Given the description of an element on the screen output the (x, y) to click on. 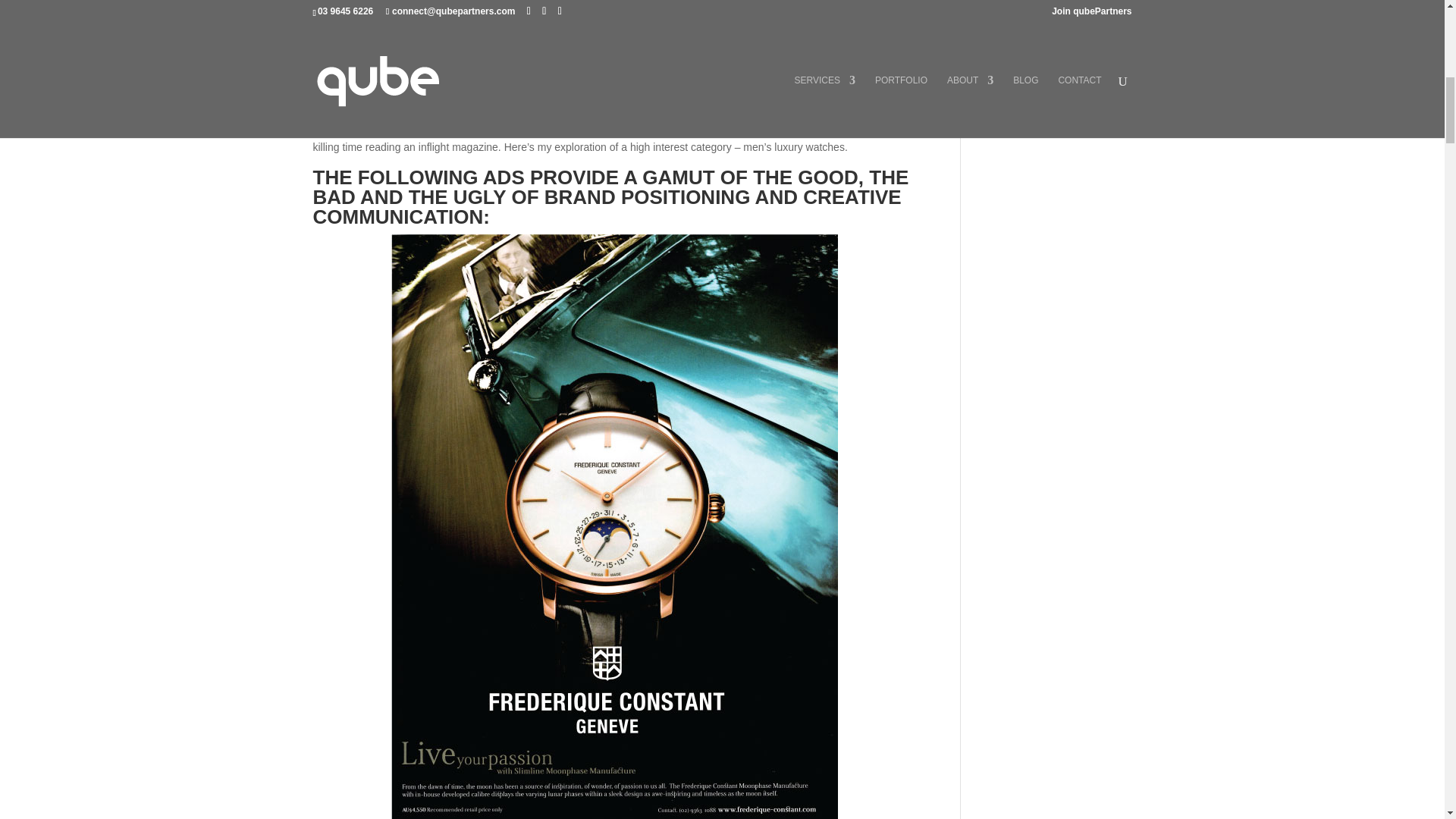
make their message stand out through creativity (552, 82)
positioning statement (498, 17)
positioning of the brand (515, 101)
